Given the description of an element on the screen output the (x, y) to click on. 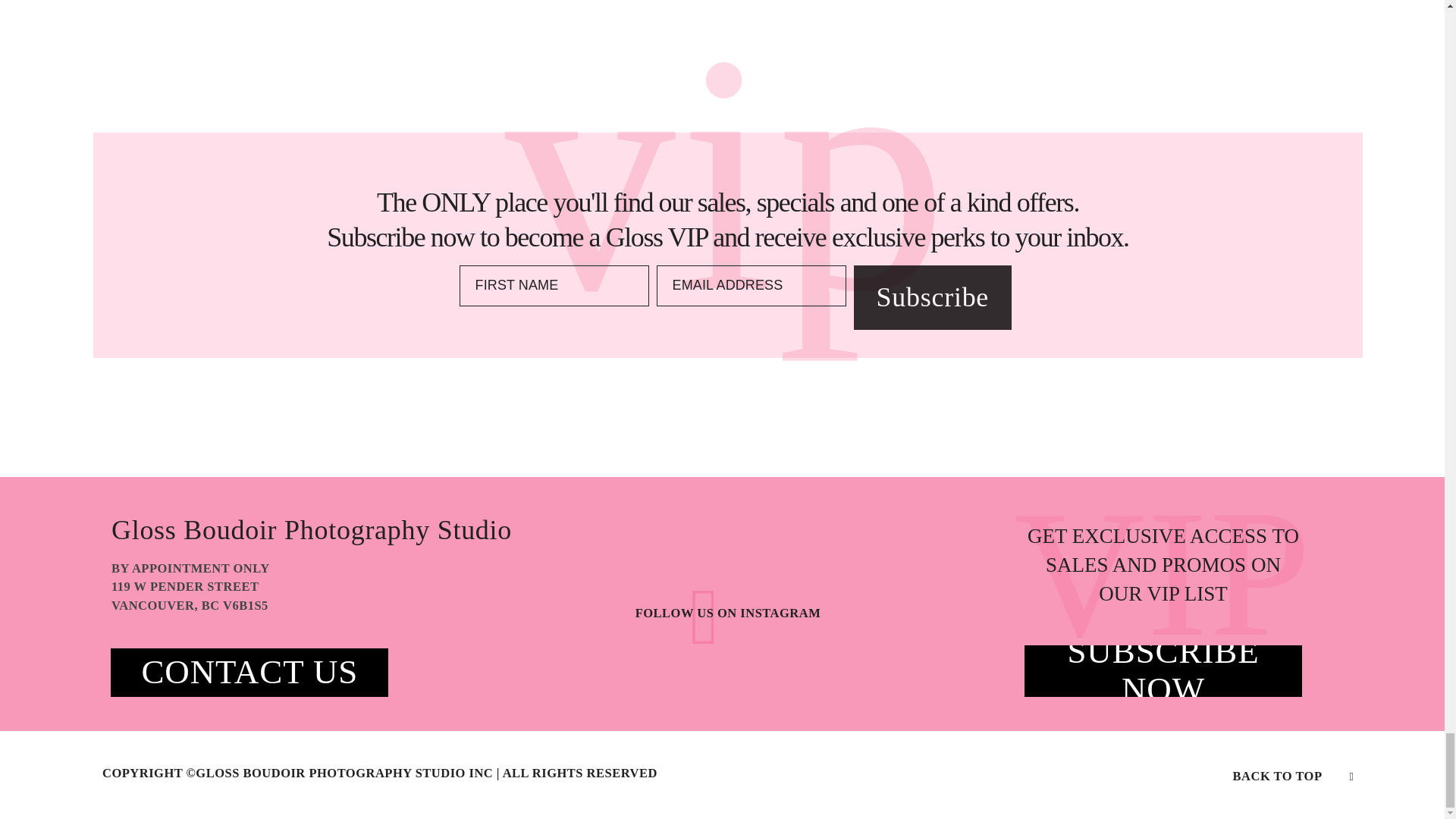
Subscribe (932, 297)
FOLLOW US ON INSTAGRAM (727, 612)
BACK TO TOP (1293, 775)
Gloss Boudoir Photography Studio (322, 530)
BACK TO TOP (1277, 776)
CONTACT US (249, 672)
SUBSCRIBE NOW (1163, 670)
